Given the description of an element on the screen output the (x, y) to click on. 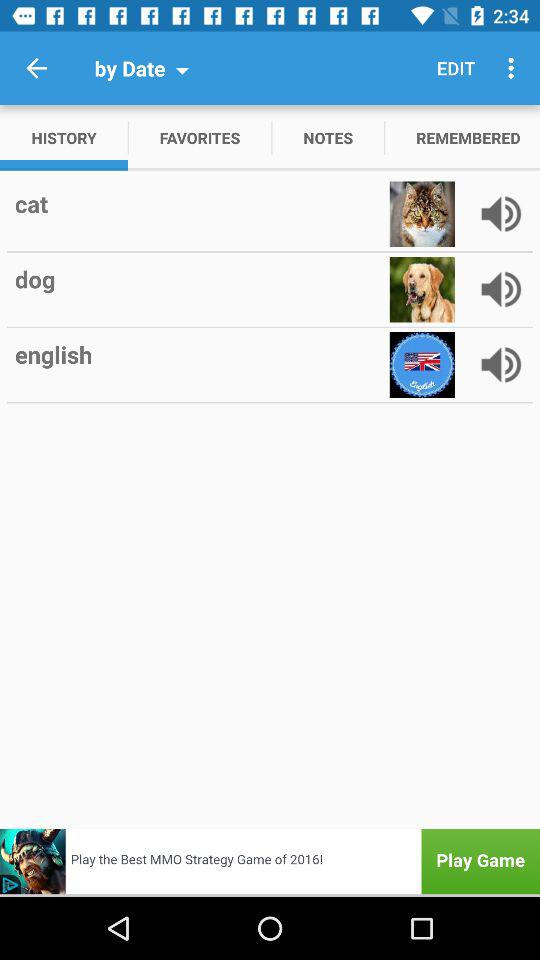
flip to the edit item (455, 67)
